Given the description of an element on the screen output the (x, y) to click on. 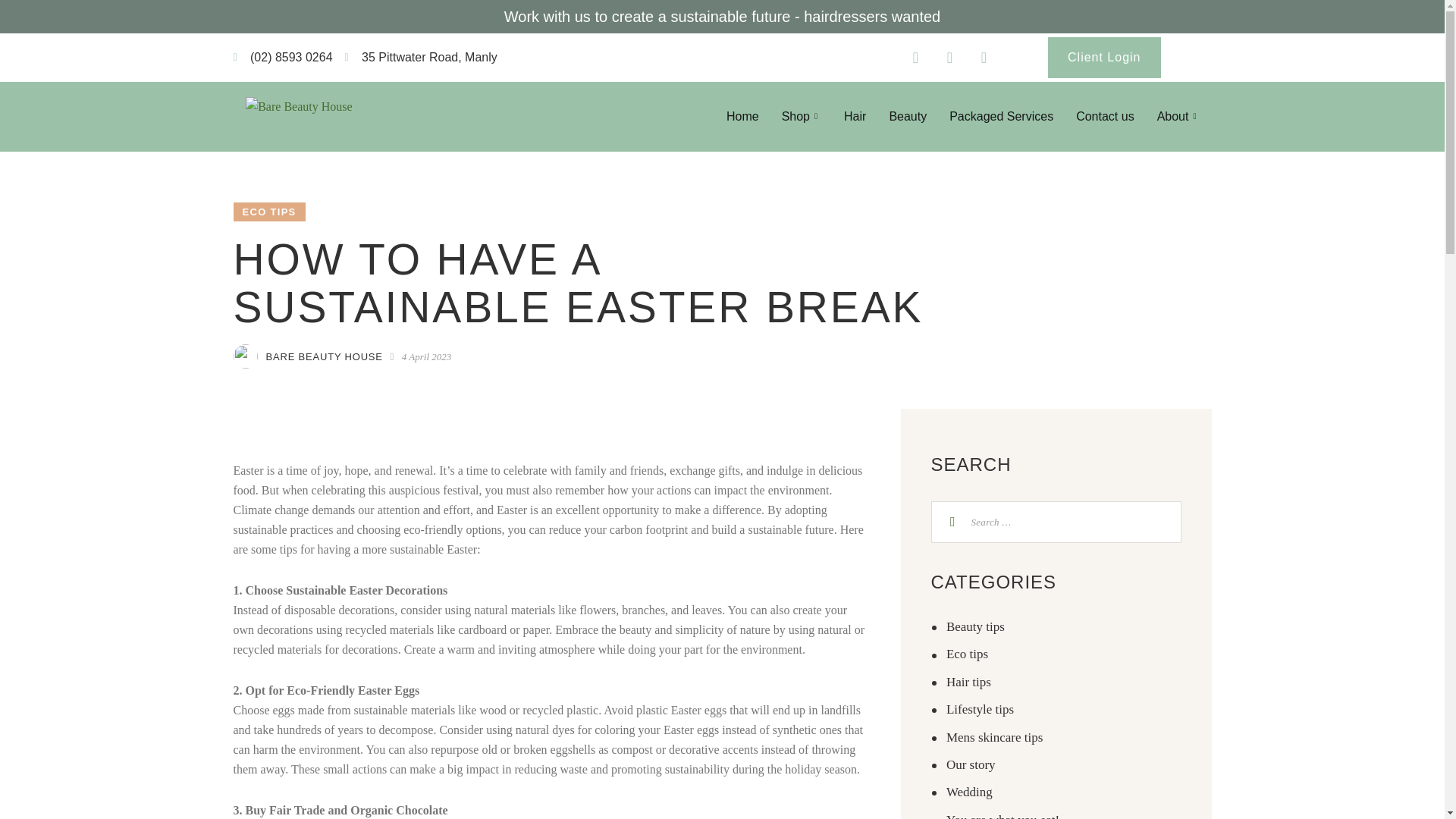
Shop (801, 116)
Beauty (907, 116)
Hair (854, 116)
35 Pittwater Road, Manly (421, 57)
Contact us (1104, 116)
About (1178, 116)
Client Login (1104, 56)
Packaged Services (1000, 116)
Home (742, 116)
